Given the description of an element on the screen output the (x, y) to click on. 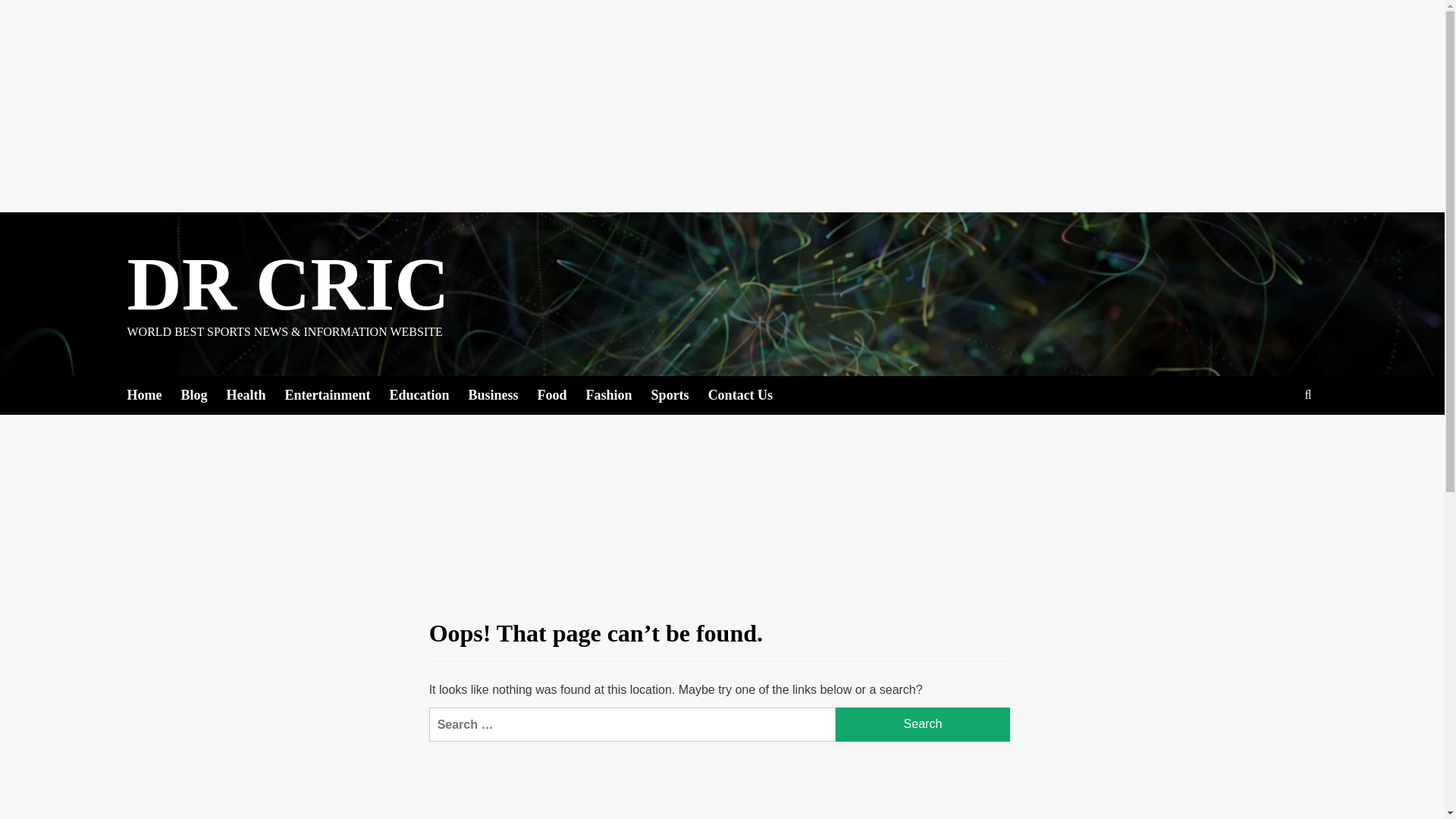
Entertainment (337, 394)
Search (922, 724)
Home (154, 394)
Health (254, 394)
Business (502, 394)
Education (427, 394)
Search (922, 724)
Sports (678, 394)
Blog (202, 394)
Fashion (618, 394)
Food (561, 394)
Contact Us (749, 394)
Search (922, 724)
DR CRIC (288, 283)
